Given the description of an element on the screen output the (x, y) to click on. 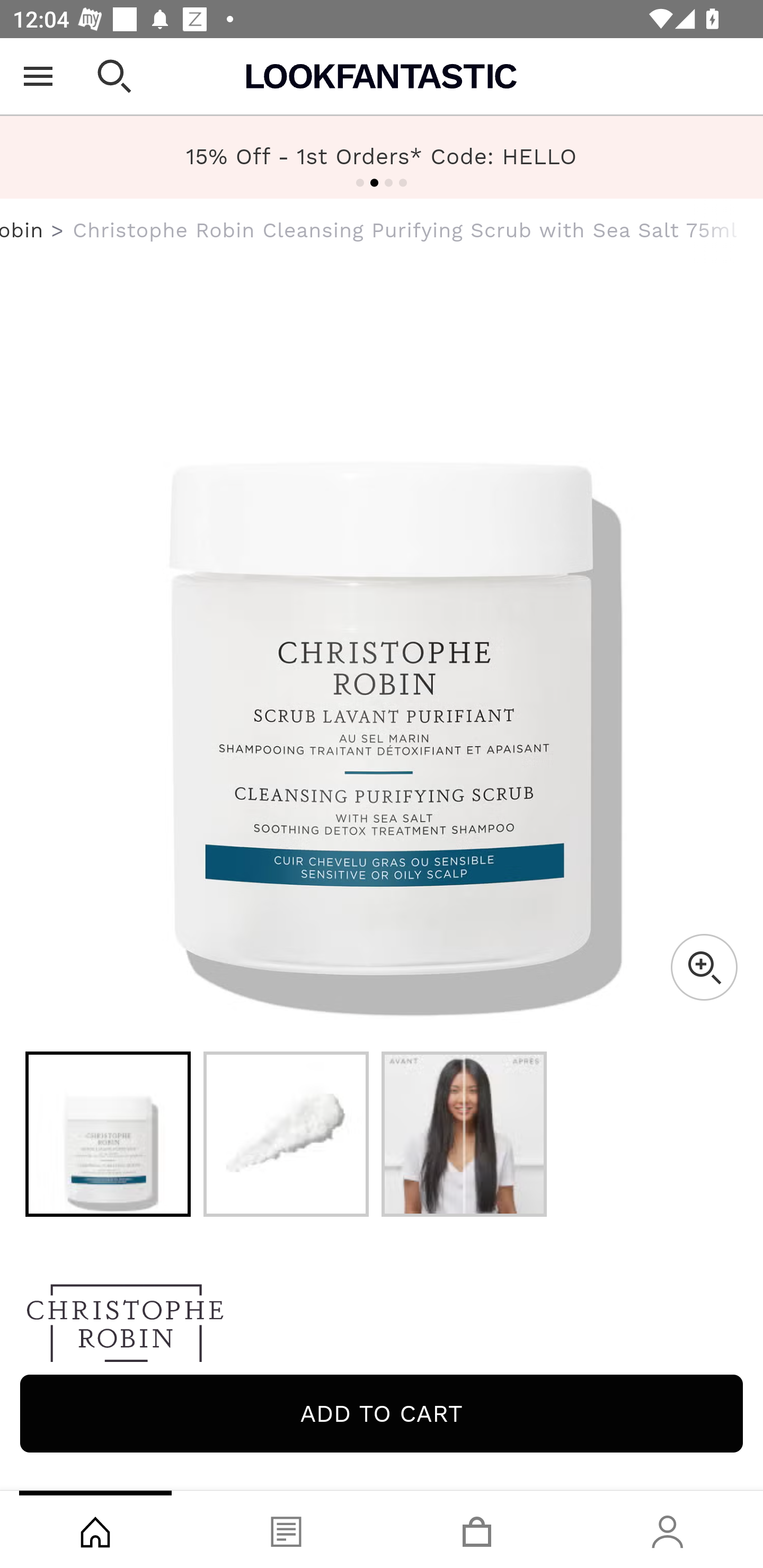
Open Menu (38, 75)
Open search (114, 75)
Lookfantastic USA (381, 75)
Christophe Robin (22, 230)
Zoom (703, 966)
Christophe Robin (381, 1327)
Add to cart (381, 1413)
Shop, tab, 1 of 4 (95, 1529)
Blog, tab, 2 of 4 (285, 1529)
Basket, tab, 3 of 4 (476, 1529)
Account, tab, 4 of 4 (667, 1529)
